Given the description of an element on the screen output the (x, y) to click on. 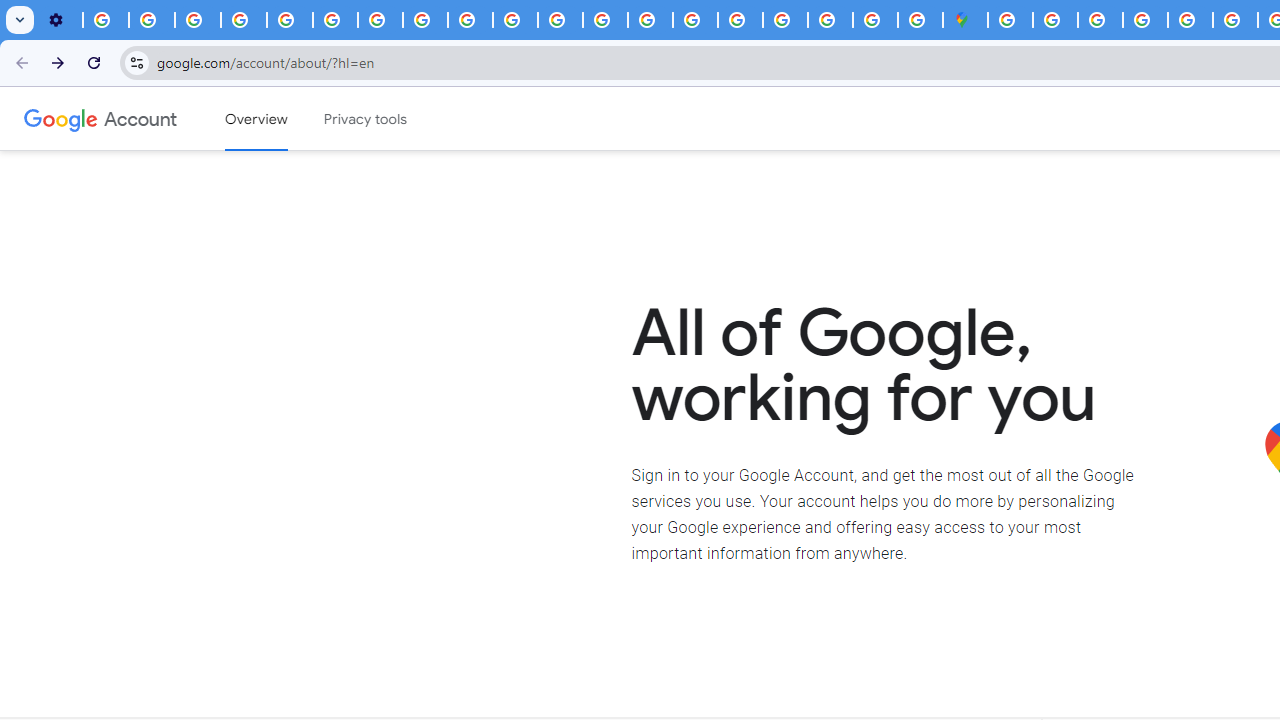
Learn how to find your photos - Google Photos Help (152, 20)
Privacy Checkup (514, 20)
Privacy Help Center - Policies Help (1235, 20)
Skip to Content (285, 115)
Privacy Help Center - Policies Help (290, 20)
Google Account overview (256, 119)
Google logo (61, 118)
